Given the description of an element on the screen output the (x, y) to click on. 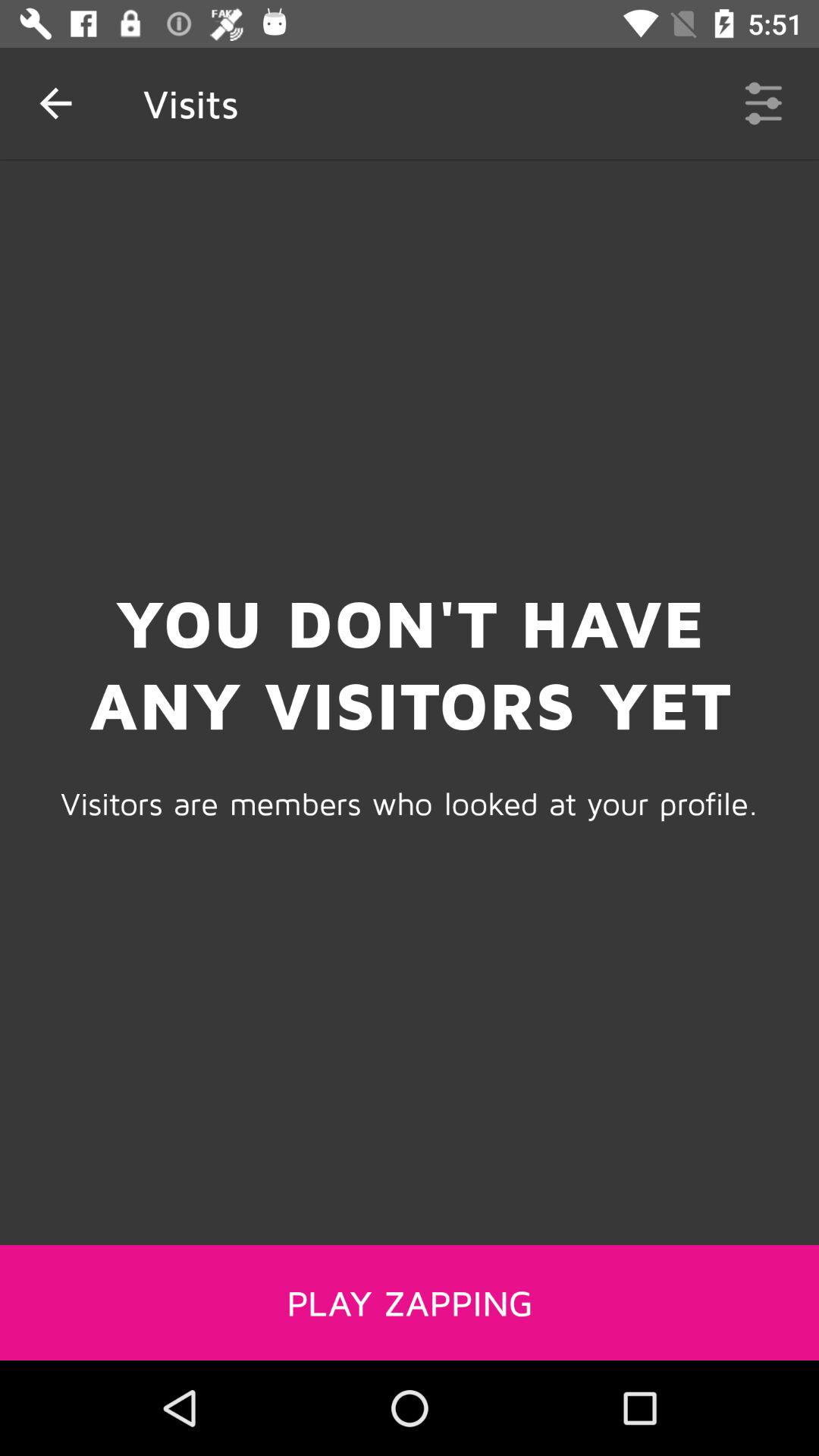
select the play zapping (409, 1302)
